Given the description of an element on the screen output the (x, y) to click on. 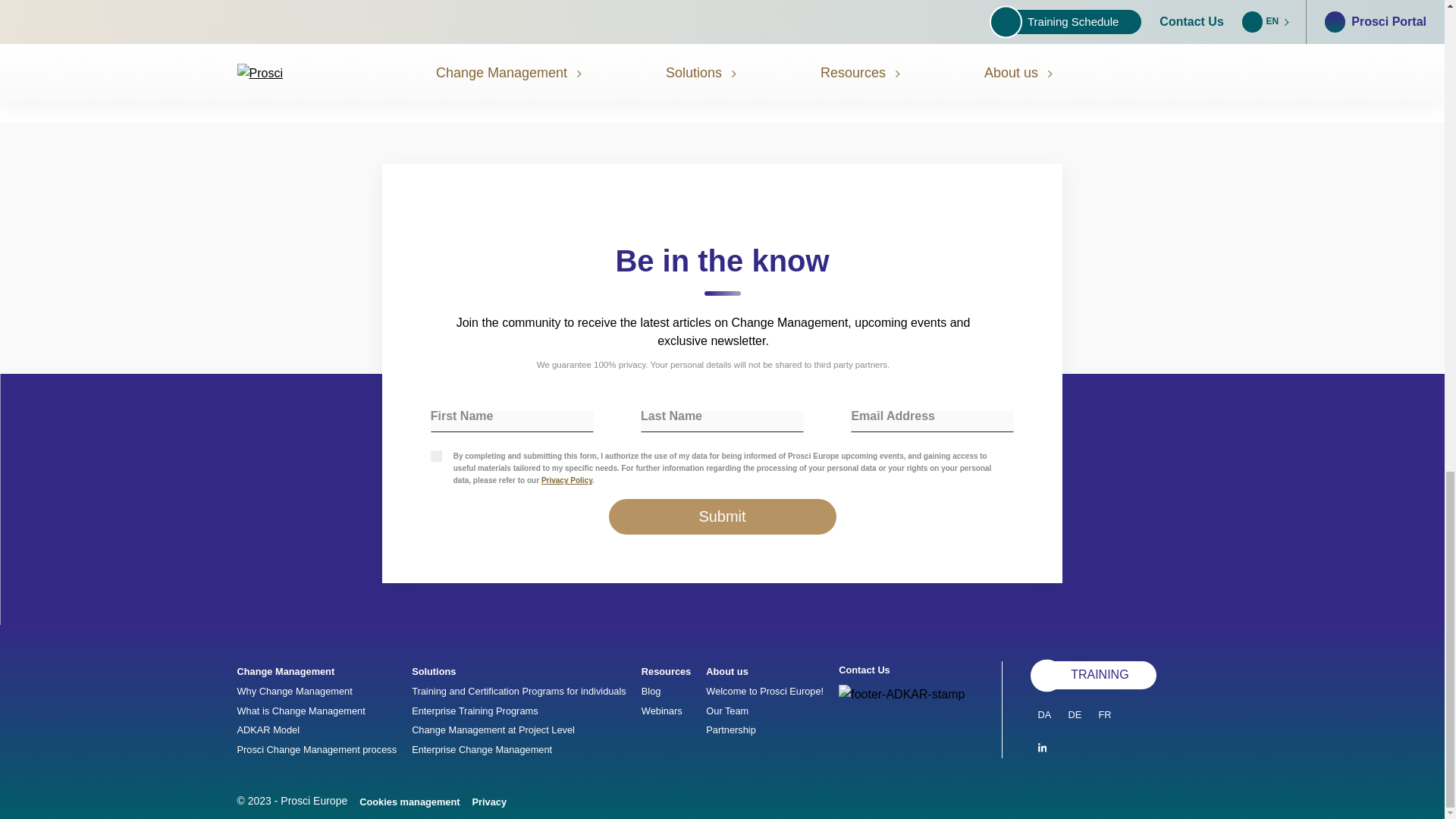
Replay (547, 55)
Linkedin logo (1040, 747)
Linkedin Nexum (1040, 749)
Slides (722, 55)
